Given the description of an element on the screen output the (x, y) to click on. 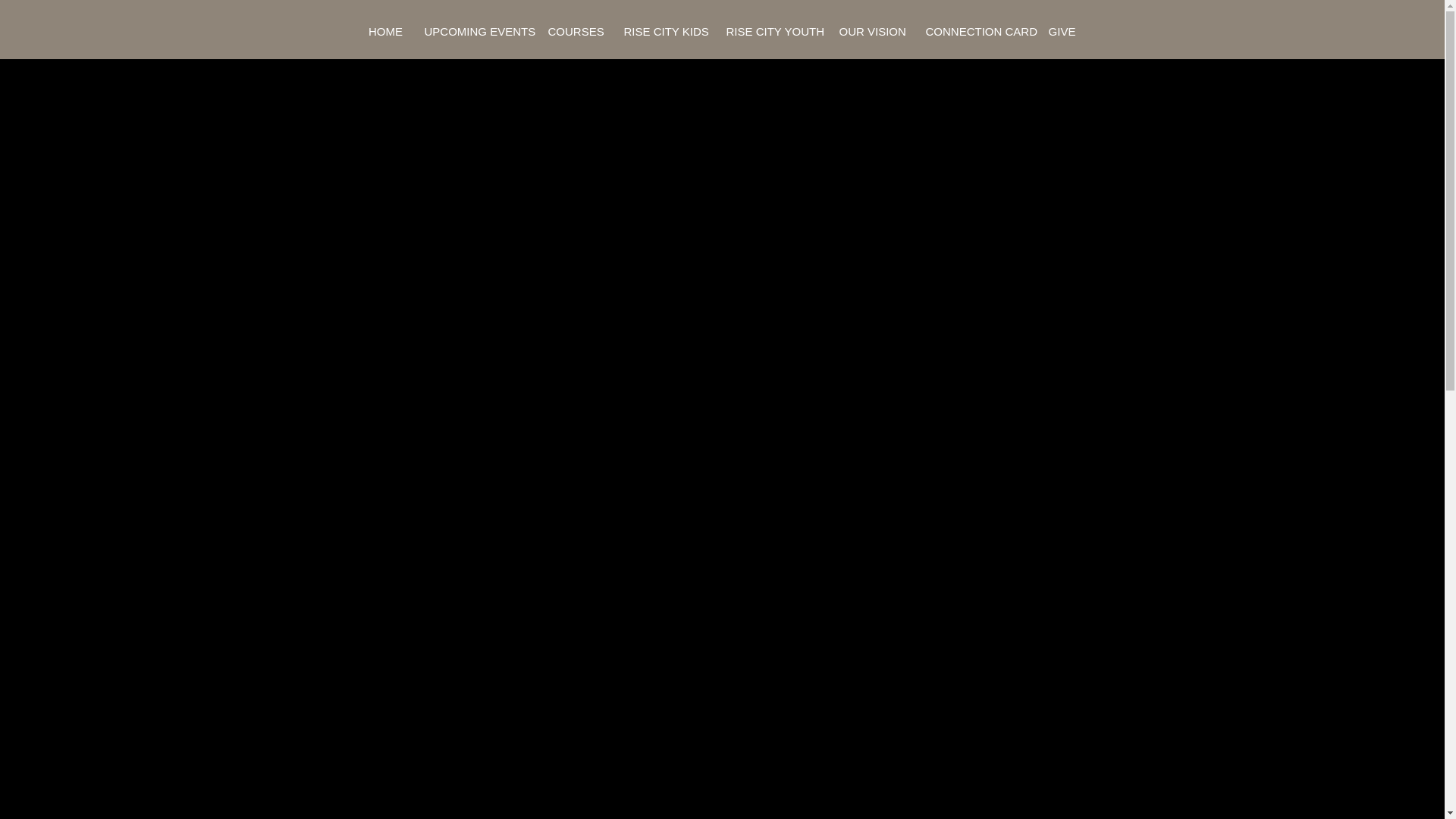
HOME (384, 31)
GIVE (1061, 31)
OUR VISION (872, 31)
UPCOMING EVENTS (475, 31)
RISE CITY YOUTH (772, 31)
RISE CITY KIDS (665, 31)
COURSES (576, 31)
CONNECTION CARD (975, 31)
